Given the description of an element on the screen output the (x, y) to click on. 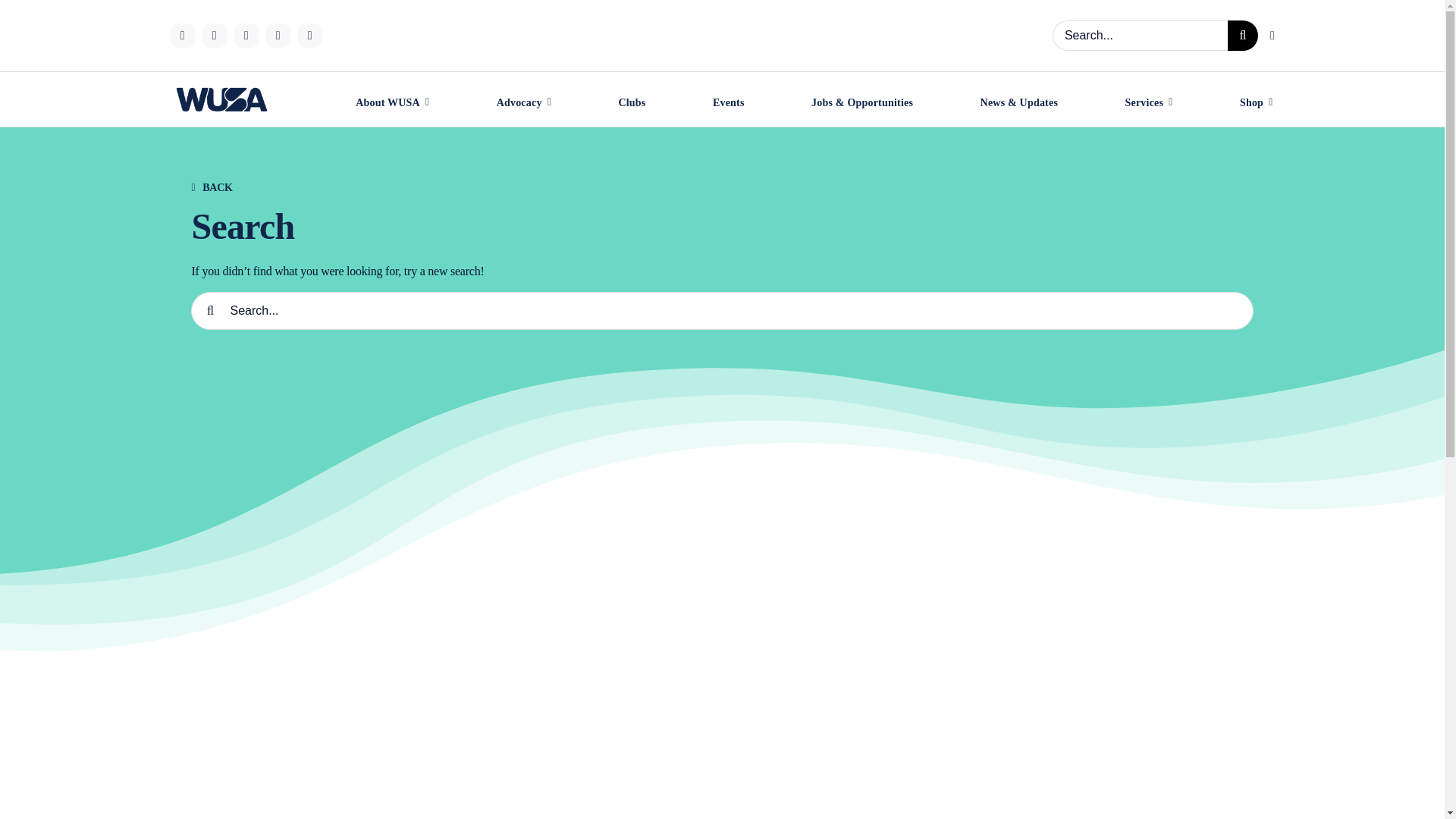
X (244, 34)
About WUSA (391, 105)
Advocacy (524, 105)
Back to listing (222, 183)
Instagram (181, 34)
Tiktok (213, 34)
LinkedIn (276, 34)
YouTube (309, 34)
